Given the description of an element on the screen output the (x, y) to click on. 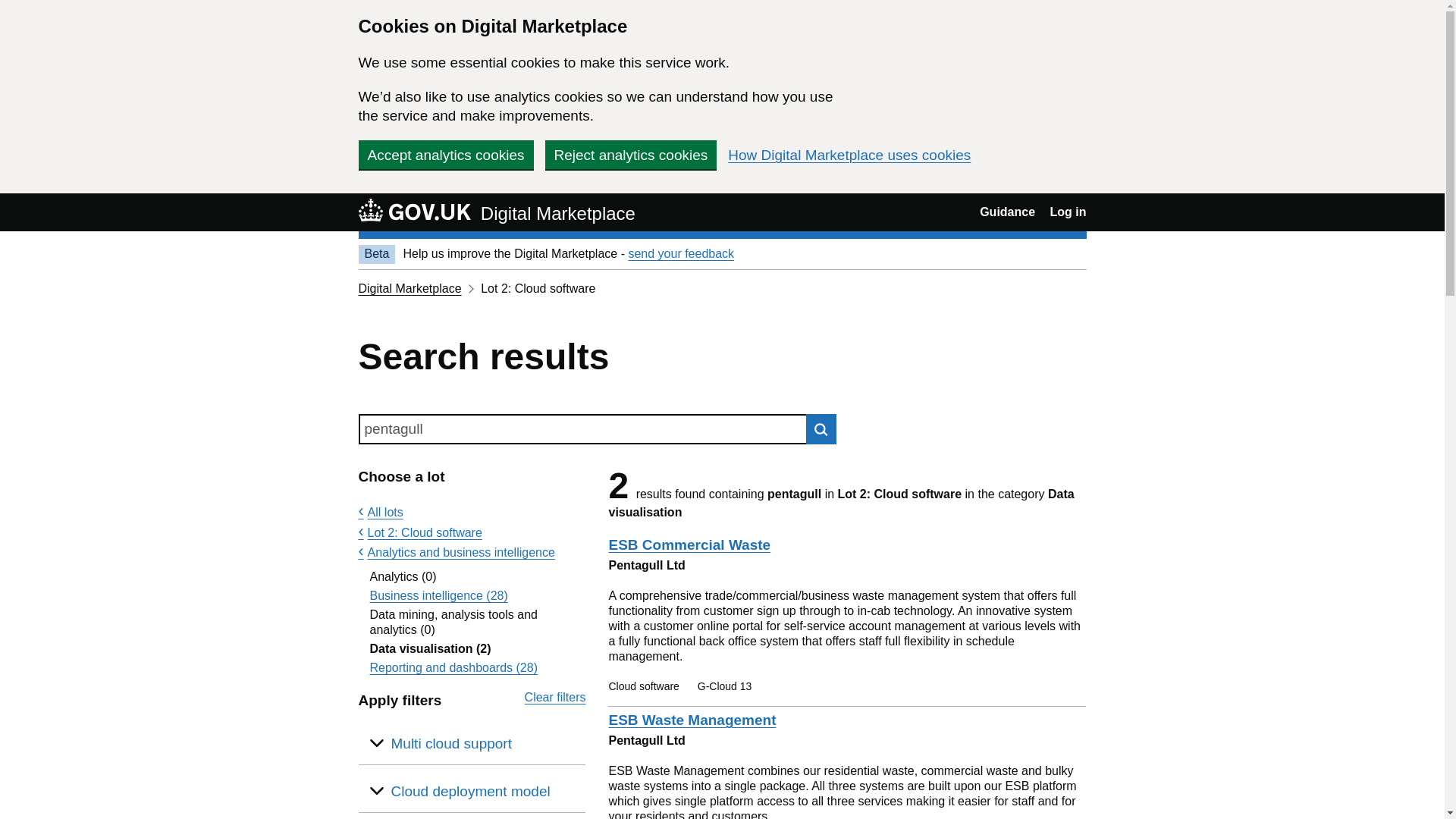
Lot 2: Cloud software (419, 532)
All lots (380, 512)
Reject analytics cookies (630, 154)
Log in (1067, 211)
Search (820, 429)
Digital Marketplace (409, 287)
Guidance (1007, 211)
send your feedback (680, 253)
Analytics and business intelligence (456, 552)
